Given the description of an element on the screen output the (x, y) to click on. 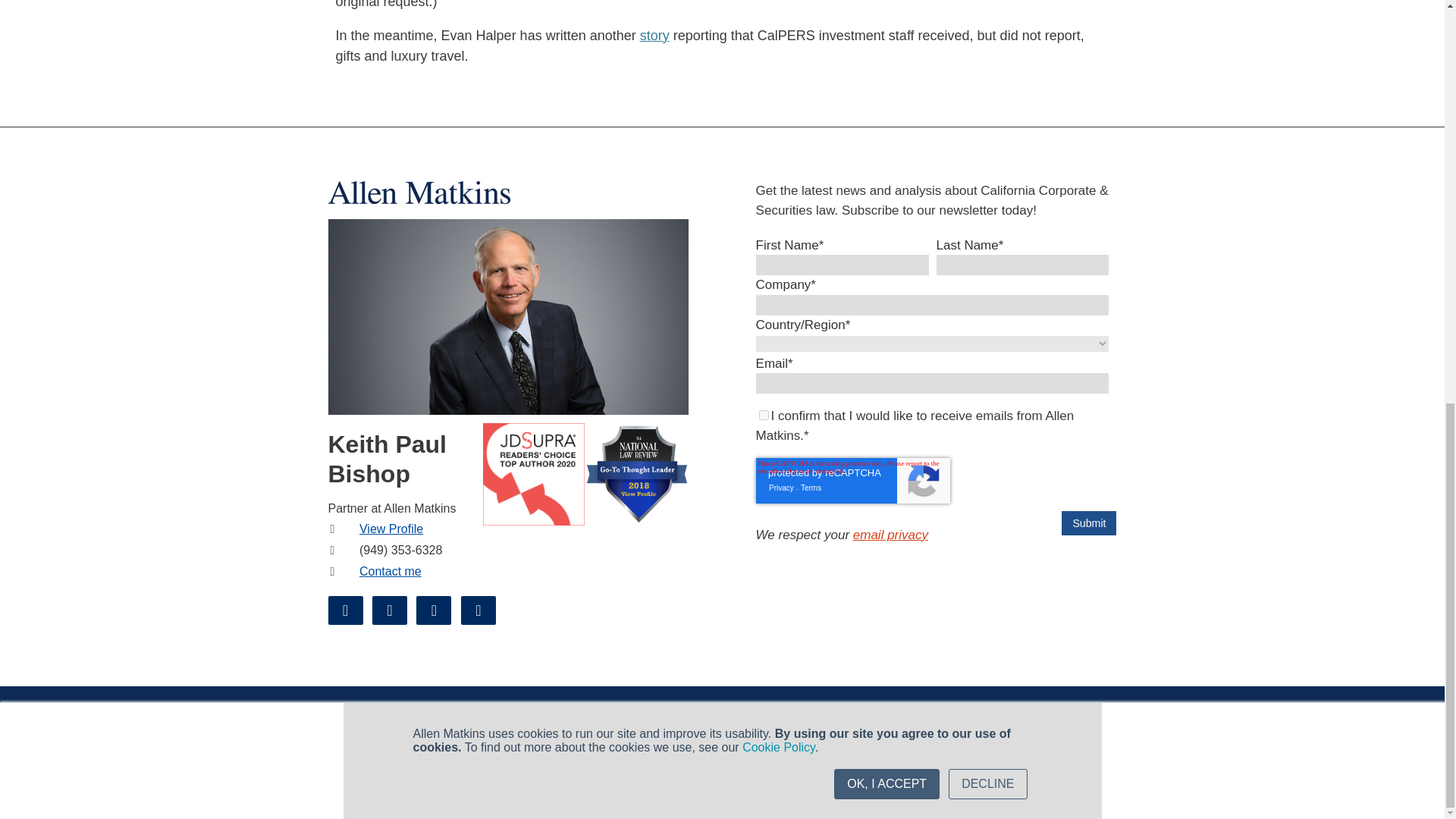
reCAPTCHA (852, 480)
Facebook (344, 610)
Privacy Policy (890, 534)
Submit (1088, 523)
Keith Bishop (507, 316)
true (763, 415)
YouTube (478, 610)
DECLINE (987, 2)
LinkedIn (389, 610)
Twitter (433, 610)
allenmatkinslogo.png (418, 191)
OK, I ACCEPT (886, 2)
